Given the description of an element on the screen output the (x, y) to click on. 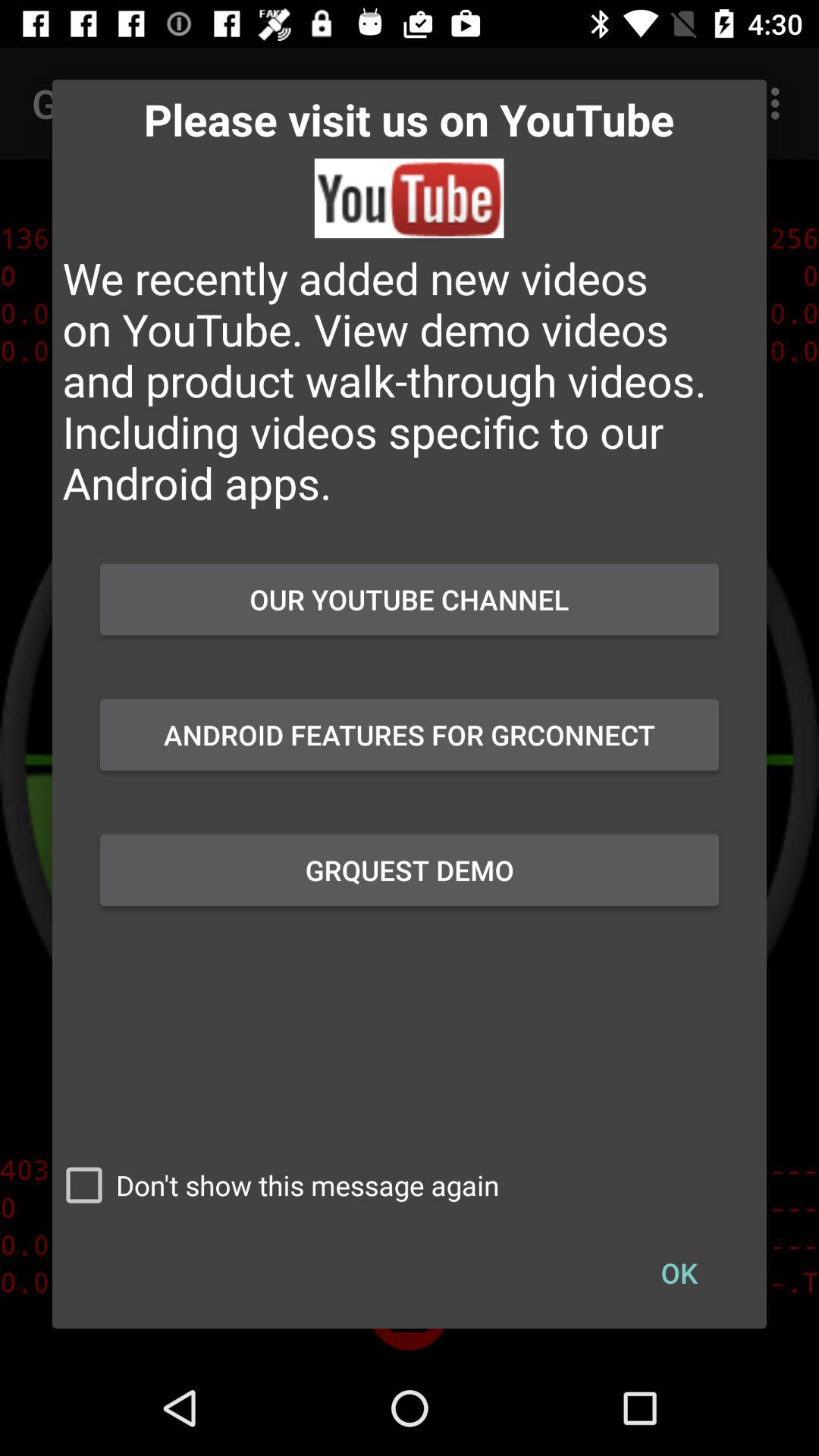
turn on icon below grquest demo button (275, 1185)
